Given the description of an element on the screen output the (x, y) to click on. 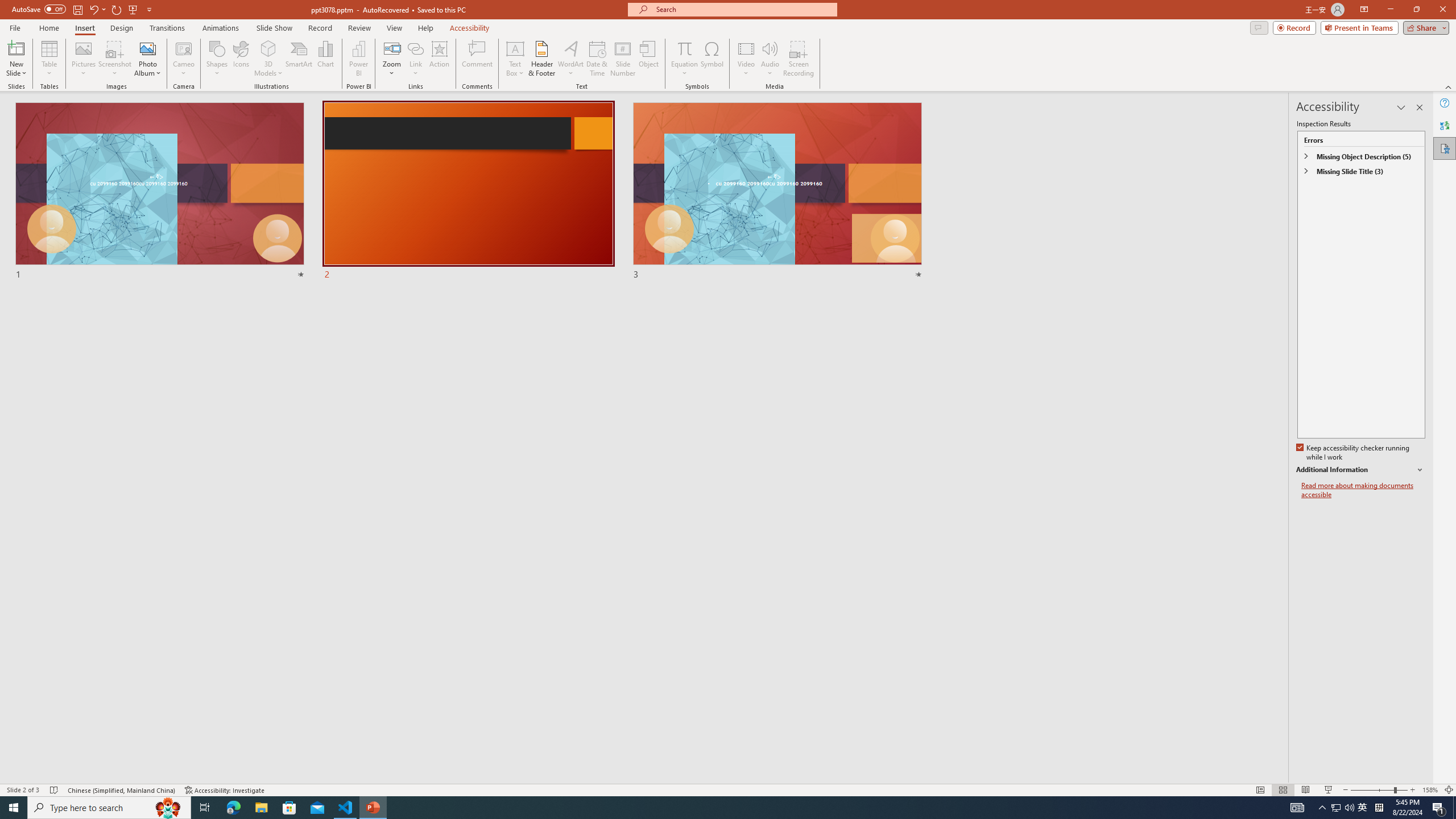
Video (745, 58)
